Given the description of an element on the screen output the (x, y) to click on. 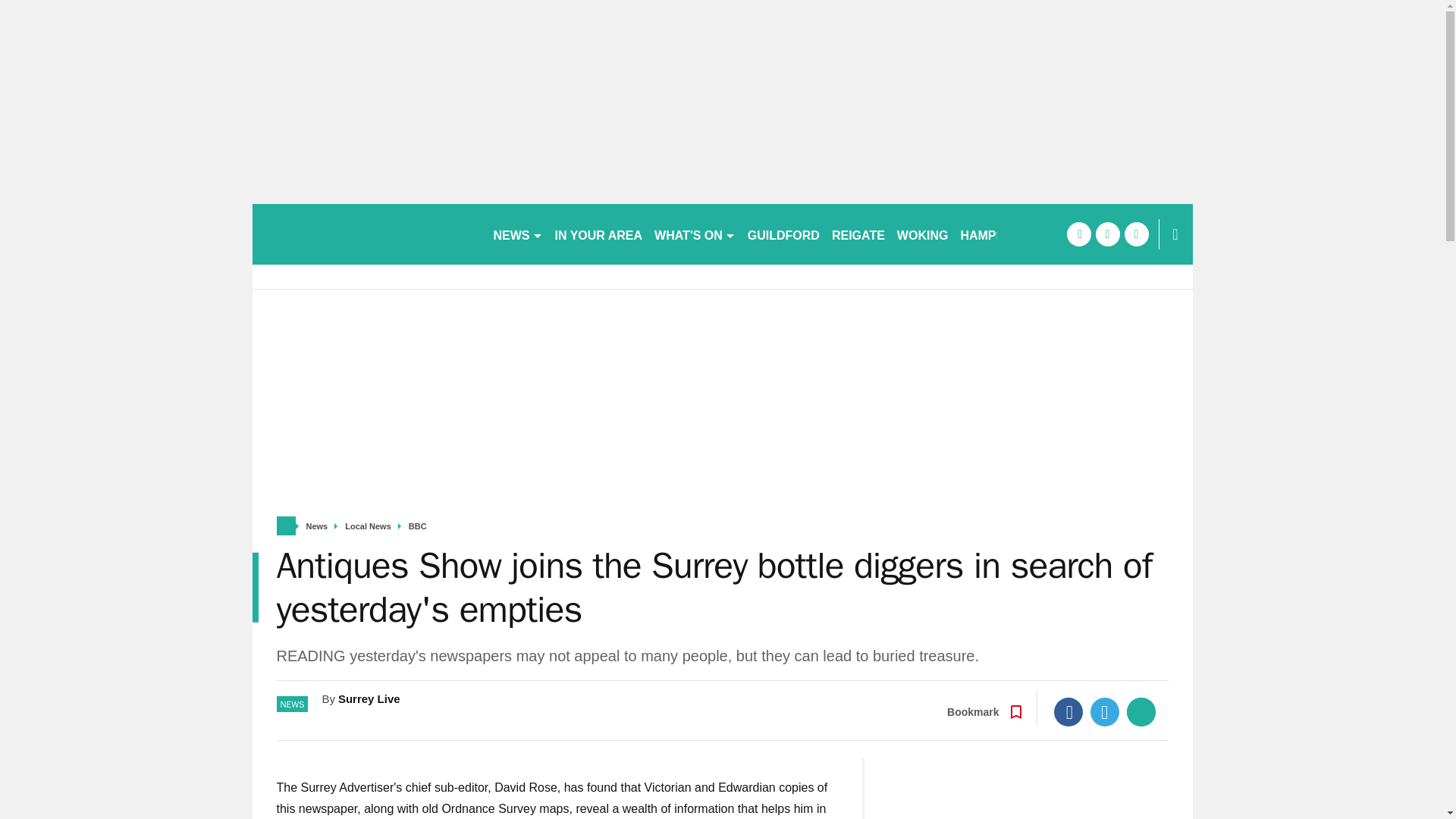
getsurrey (365, 233)
NEWS (517, 233)
WOKING (923, 233)
instagram (1136, 233)
HAMPSHIRE (996, 233)
Facebook (1068, 711)
IN YOUR AREA (598, 233)
facebook (1077, 233)
GUILDFORD (783, 233)
twitter (1106, 233)
